Given the description of an element on the screen output the (x, y) to click on. 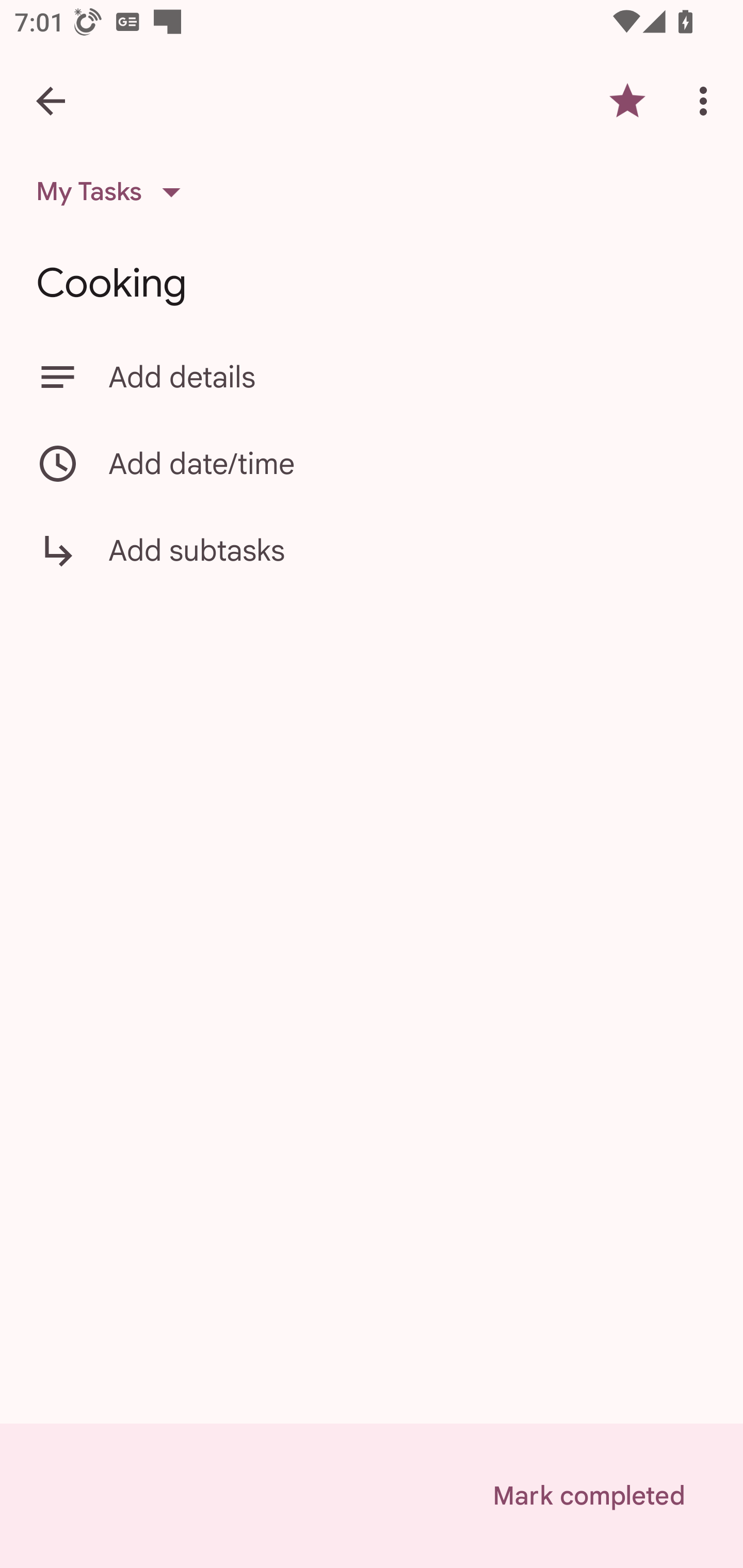
Back (50, 101)
Remove star (626, 101)
More options (706, 101)
My Tasks List, My Tasks selected, 1 of 6 (114, 191)
Cooking (371, 283)
Add details (371, 376)
Add details (407, 376)
Add date/time (371, 463)
Add subtasks (371, 564)
Mark completed (588, 1495)
